Given the description of an element on the screen output the (x, y) to click on. 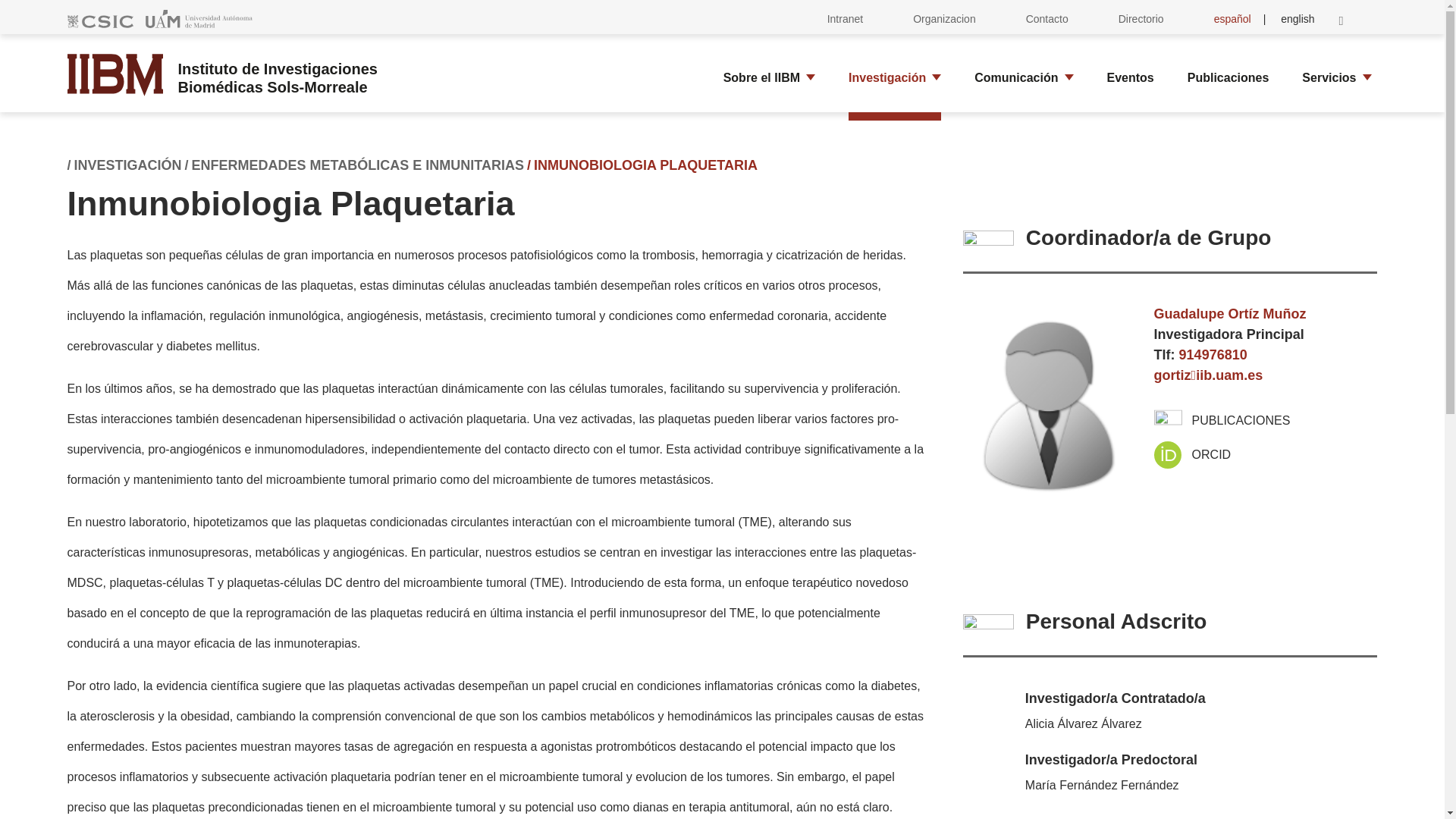
Contacto (1047, 18)
Intranet (845, 18)
Sobre el IIBM (758, 78)
Servicios (1325, 78)
Organizacion (944, 18)
Directorio (1141, 18)
Contacto (1047, 18)
Directorio (1141, 18)
Organizacion (944, 18)
english (1297, 18)
Eventos (1130, 78)
Publicaciones (1227, 78)
Intranet (845, 18)
